Given the description of an element on the screen output the (x, y) to click on. 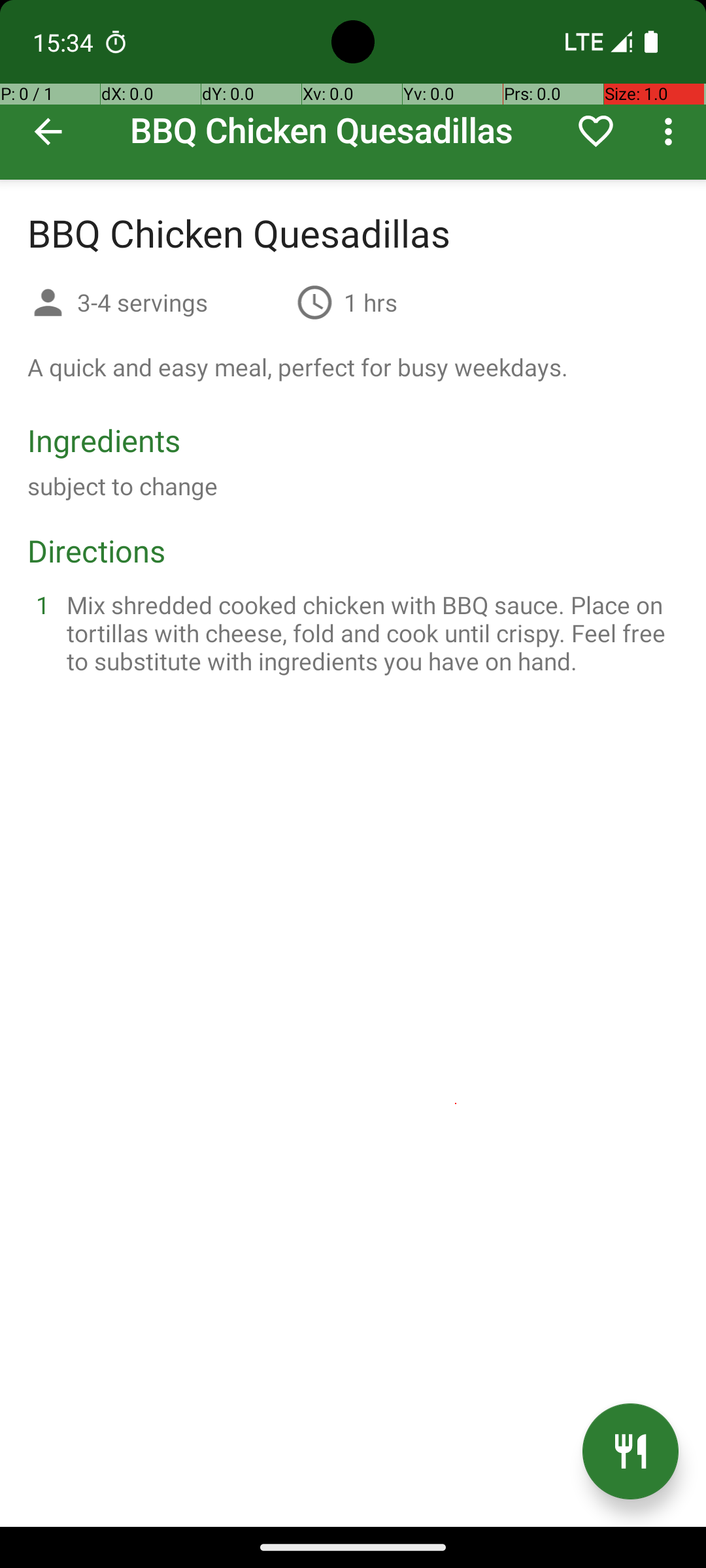
Mix shredded cooked chicken with BBQ sauce. Place on tortillas with cheese, fold and cook until crispy. Feel free to substitute with ingredients you have on hand. Element type: android.widget.TextView (368, 632)
